Given the description of an element on the screen output the (x, y) to click on. 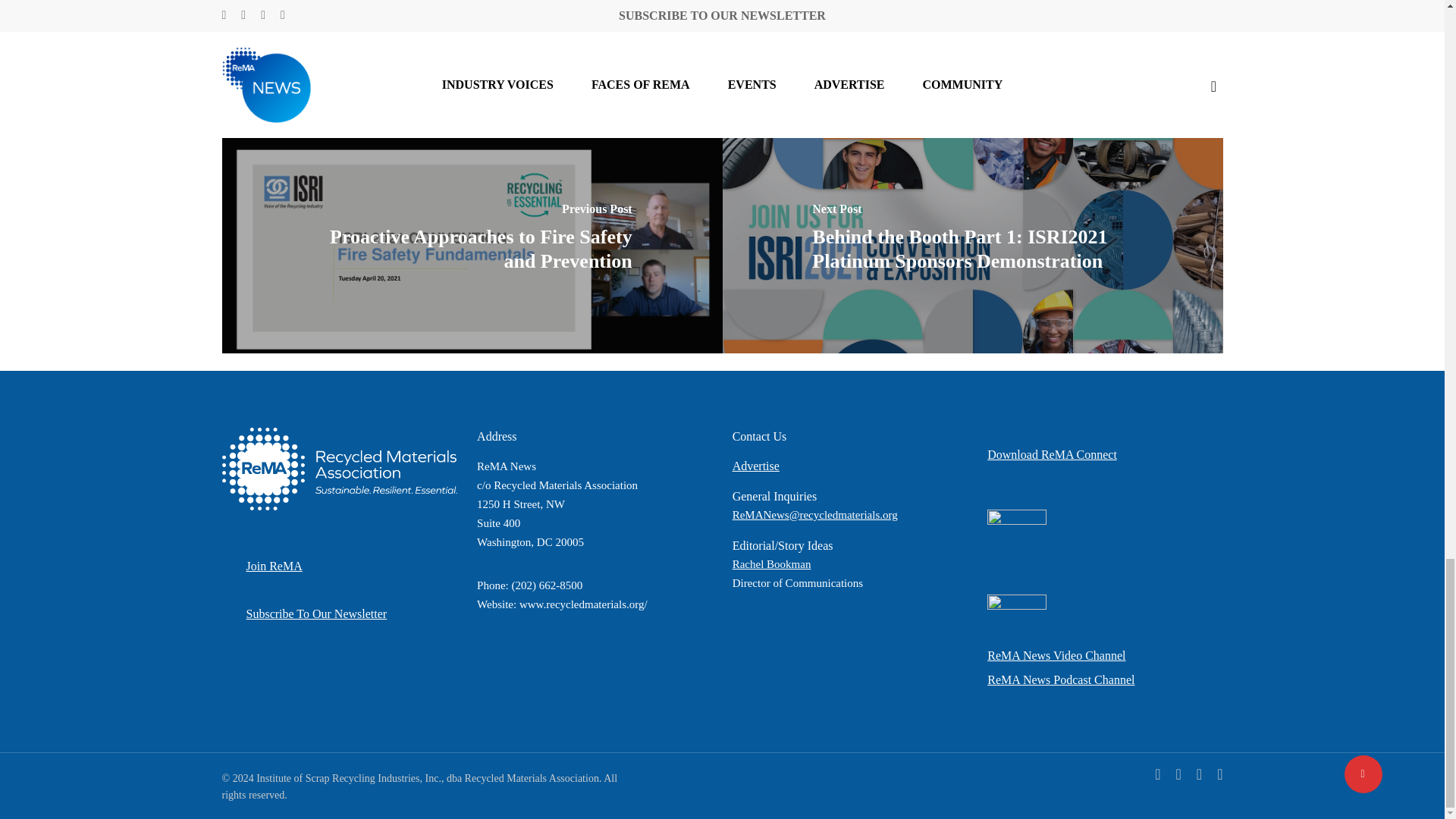
Gary Champlin (374, 17)
